Given the description of an element on the screen output the (x, y) to click on. 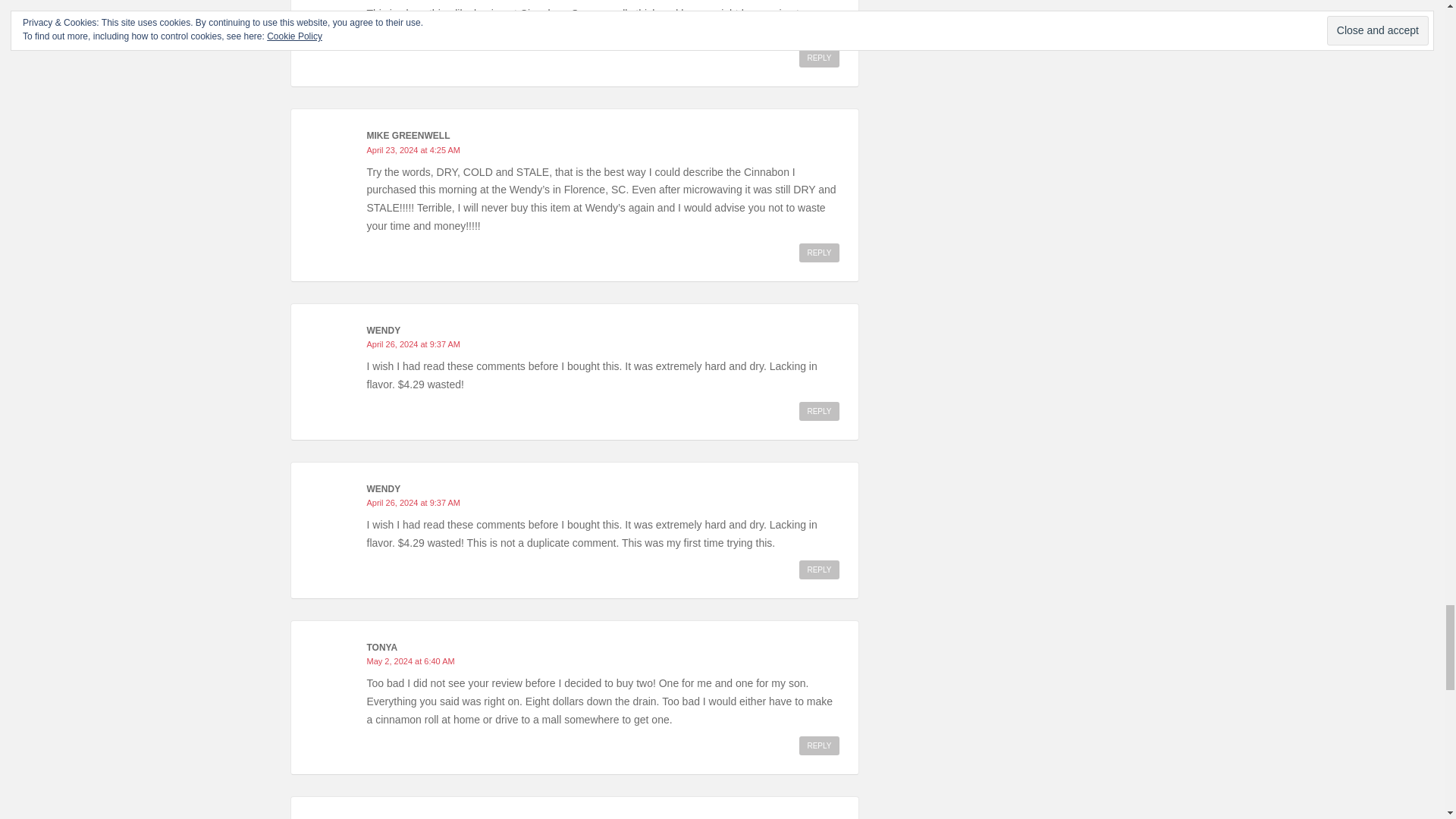
April 26, 2024 at 9:37 AM (413, 501)
May 2, 2024 at 6:40 AM (410, 660)
April 23, 2024 at 4:25 AM (413, 149)
April 26, 2024 at 9:37 AM (413, 343)
REPLY (818, 252)
REPLY (818, 411)
REPLY (818, 569)
REPLY (818, 57)
